Given the description of an element on the screen output the (x, y) to click on. 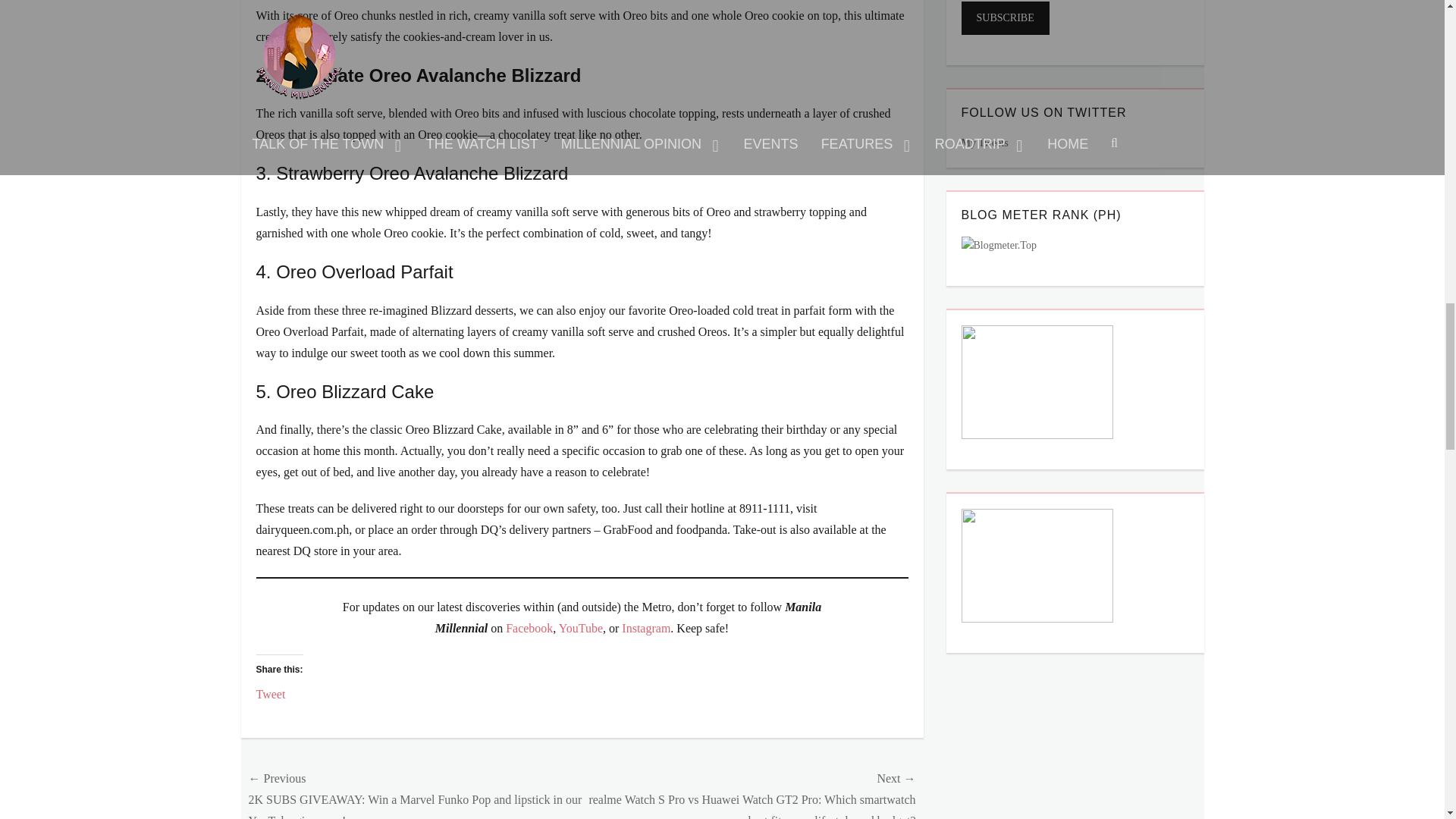
YouTube (580, 627)
Tweet (270, 694)
Instagram (645, 627)
Facebook (529, 627)
